Given the description of an element on the screen output the (x, y) to click on. 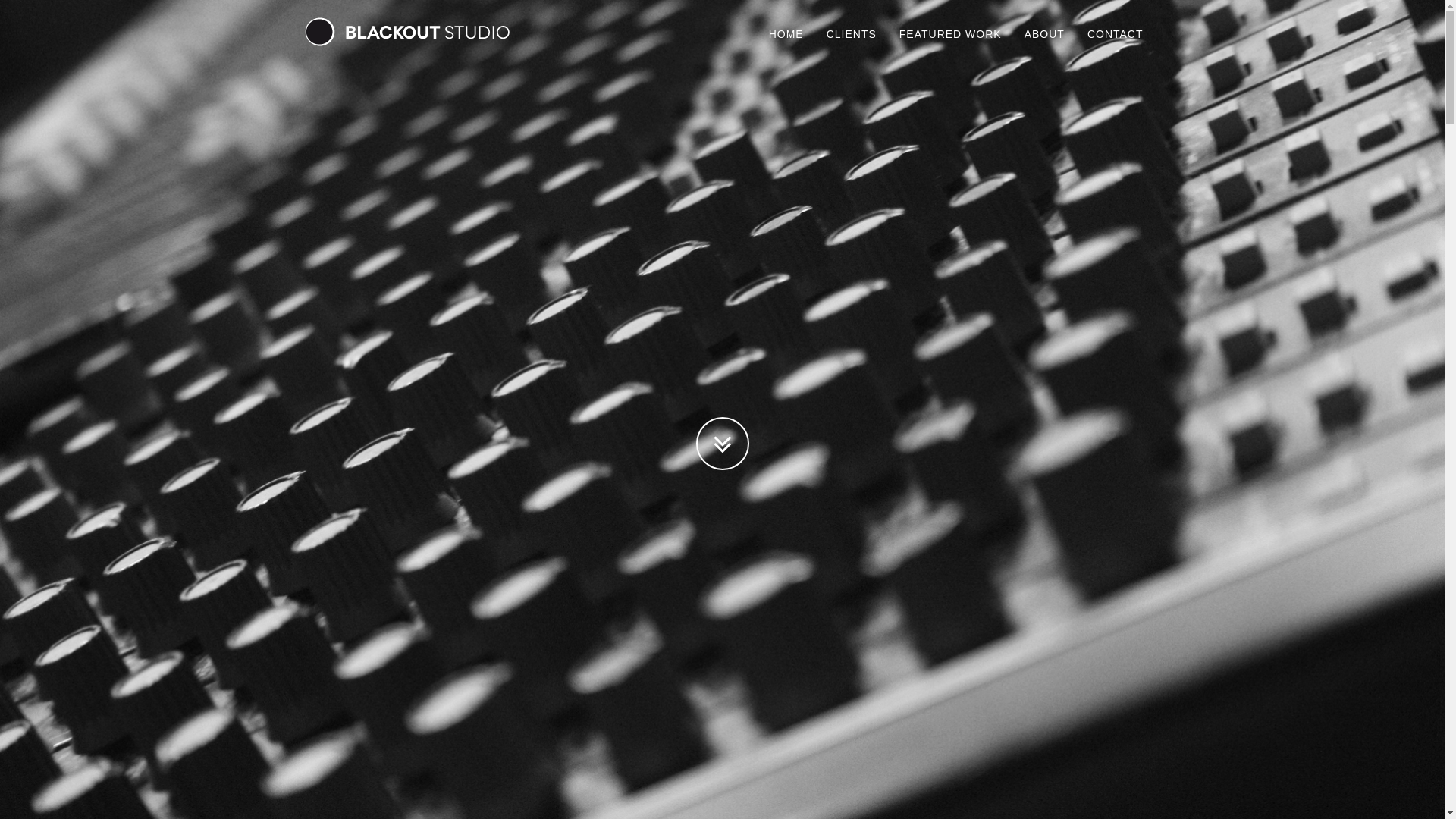
ABOUT Element type: text (1044, 34)
FEATURED WORK Element type: text (950, 34)
HOME Element type: text (786, 34)
CONTACT Element type: text (1115, 34)
CLIENTS Element type: text (851, 34)
